Given the description of an element on the screen output the (x, y) to click on. 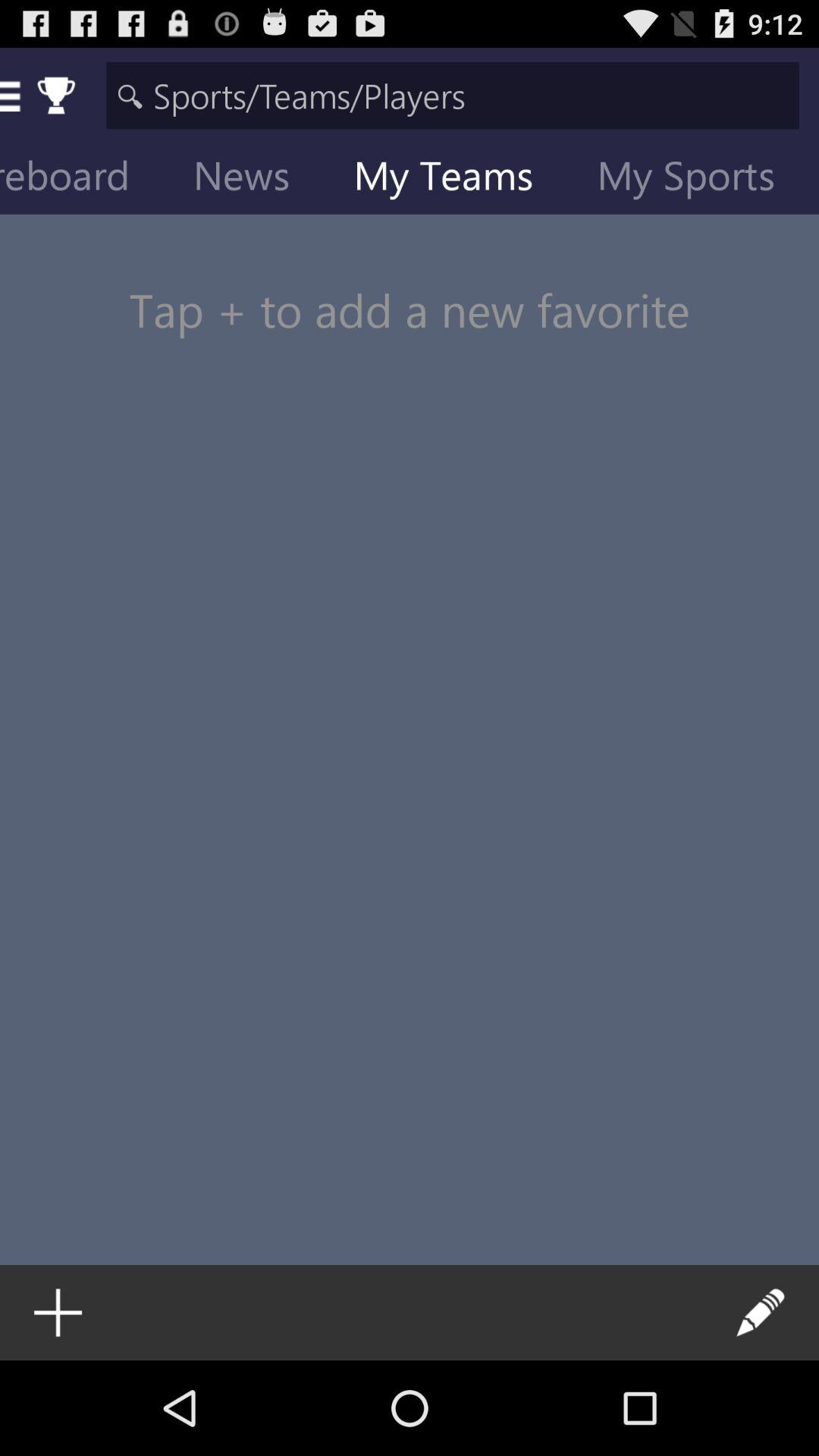
search sports/teams/players (452, 95)
